Given the description of an element on the screen output the (x, y) to click on. 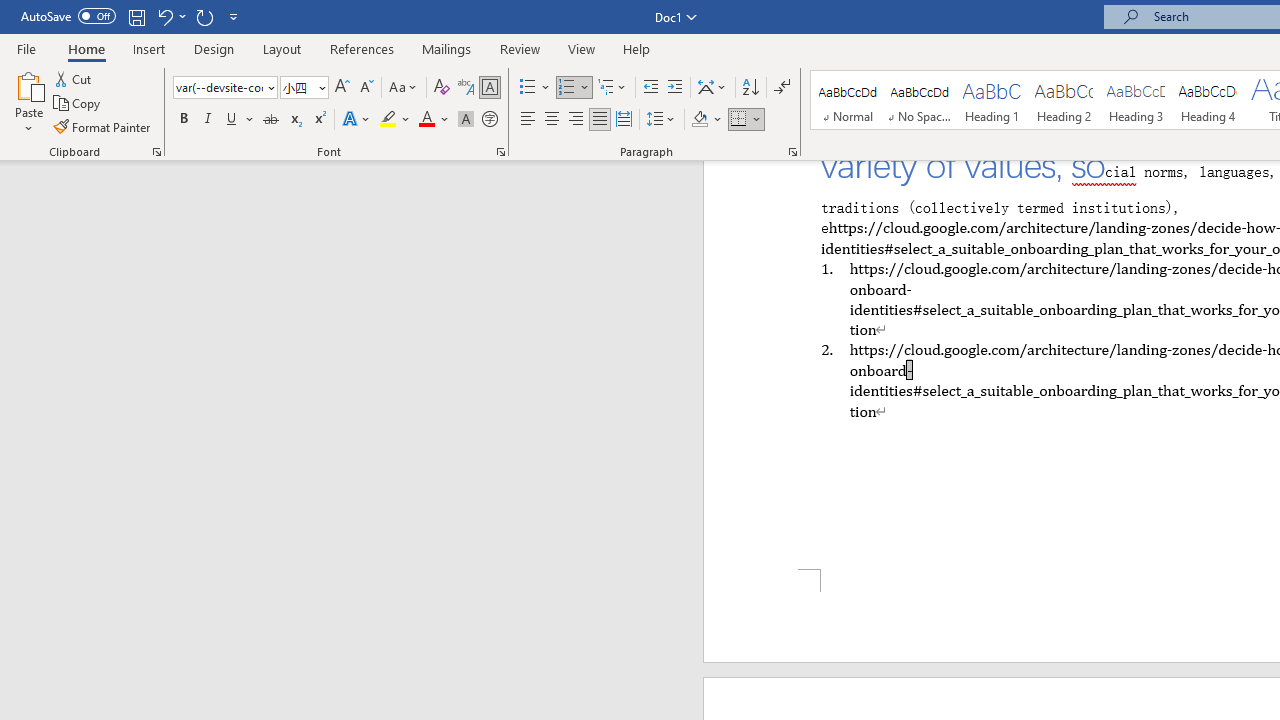
Font Color Automatic (426, 119)
Font Size (304, 87)
Grow Font (342, 87)
Text Highlight Color Yellow (388, 119)
